Given the description of an element on the screen output the (x, y) to click on. 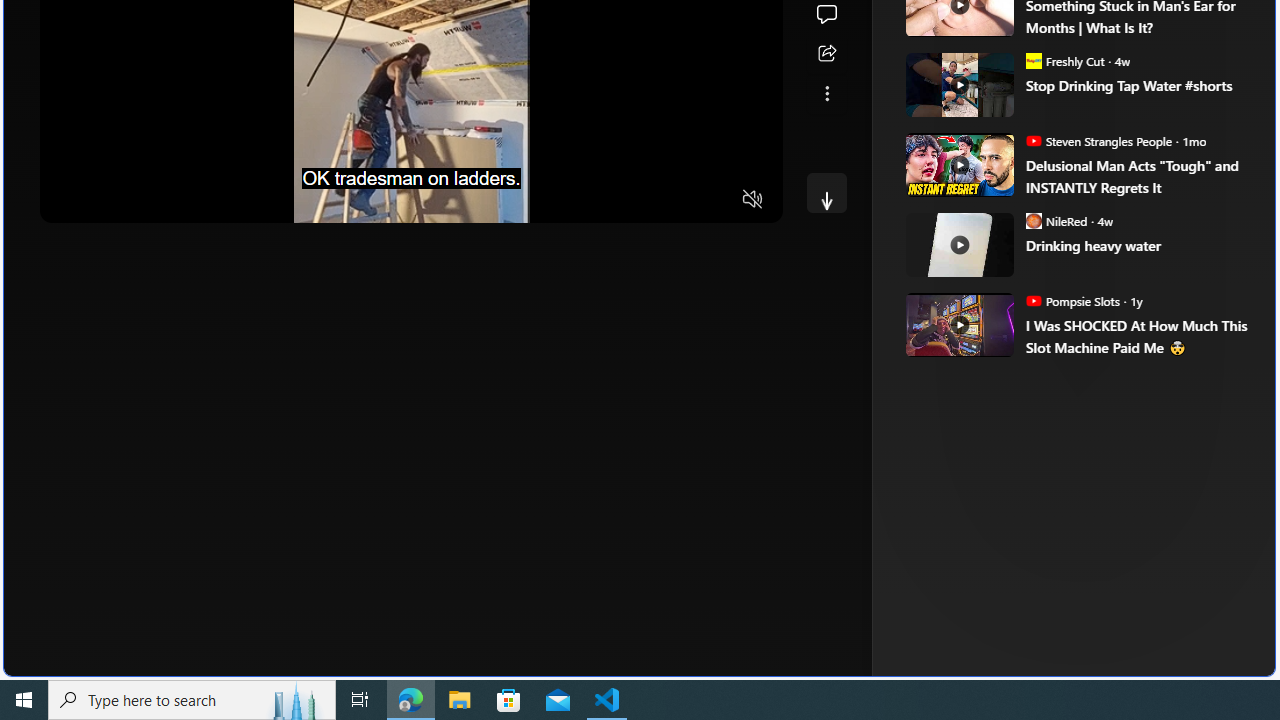
Share this story (826, 53)
Seek Back (109, 200)
Steven Strangles People Steven Strangles People (1098, 140)
Stop Drinking Tap Water #shorts (958, 83)
Delusional Man Acts "Tough" and INSTANTLY Regrets It (958, 164)
AutomationID: e5rZOEMGacU1 (826, 192)
Quality Settings (634, 200)
Drinking heavy water (958, 244)
Ad (963, 337)
Ad Choice (1212, 336)
Seek Forward (150, 200)
See more (826, 93)
Share this story (826, 53)
Freshly Cut Freshly Cut (1064, 60)
